Given the description of an element on the screen output the (x, y) to click on. 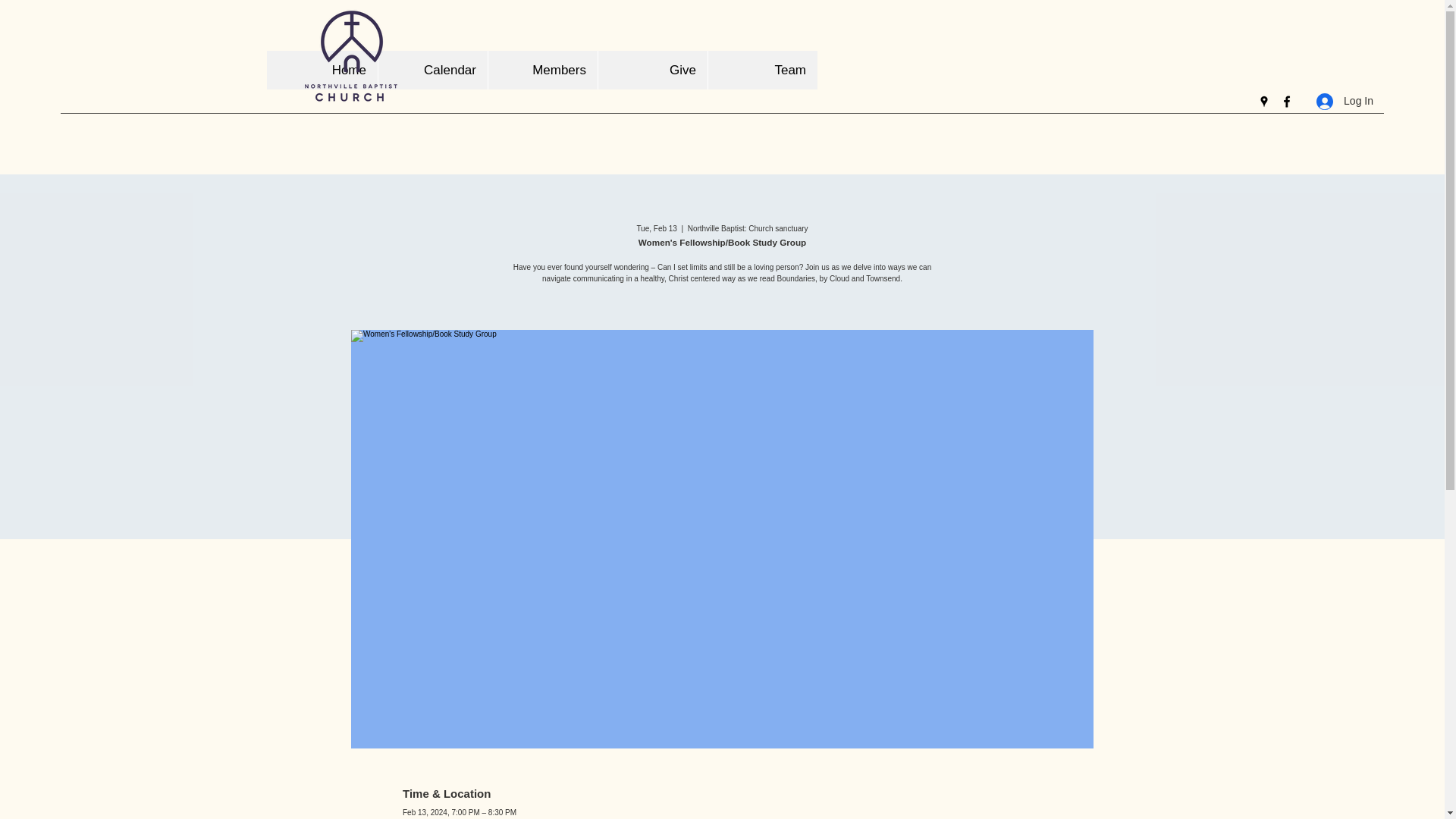
Give (651, 69)
Calendar (432, 69)
Members (541, 69)
Home (321, 69)
Log In (1345, 100)
Team (761, 69)
